Given the description of an element on the screen output the (x, y) to click on. 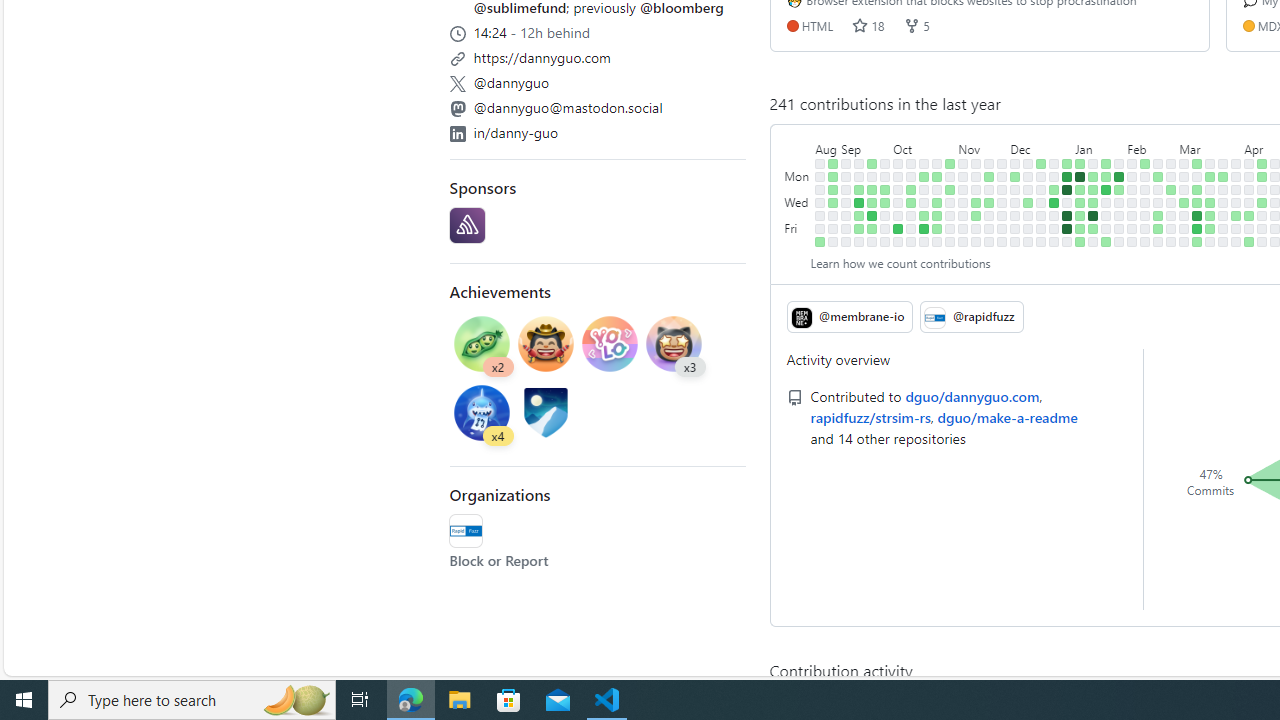
1 contribution on December 13th. (1028, 202)
No contributions on November 4th. (950, 241)
Sunday (797, 163)
No contributions on September 2nd. (833, 241)
No contributions on November 10th. (962, 228)
No contributions on April 9th. (1249, 189)
No contributions on January 31st. (1119, 202)
No contributions on December 8th. (1015, 228)
No contributions on February 12th. (1145, 176)
3 contributions on January 16th. (1093, 189)
14:24 - 12h behind (597, 30)
2 contributions on August 26th. (820, 241)
No contributions on April 5th. (1236, 228)
1 contribution on January 10th. (1080, 202)
No contributions on March 30th. (1223, 241)
